Given the description of an element on the screen output the (x, y) to click on. 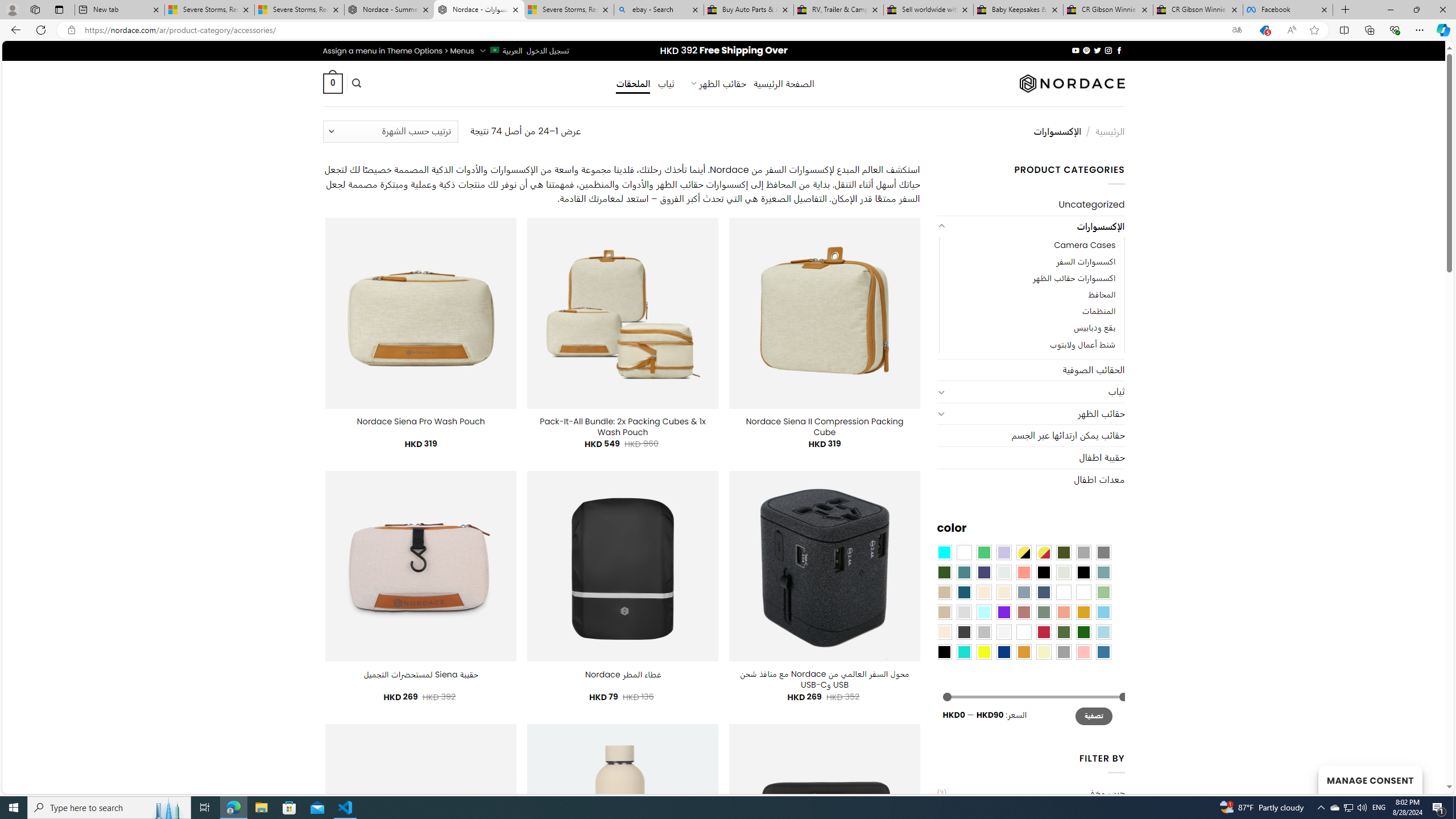
Forest (944, 572)
Workspaces (34, 9)
Minimize (1390, 9)
  0   (332, 83)
Close tab (1324, 9)
ebay - Search (658, 9)
Dusty Blue (1023, 591)
Light Purple (1003, 551)
